Given the description of an element on the screen output the (x, y) to click on. 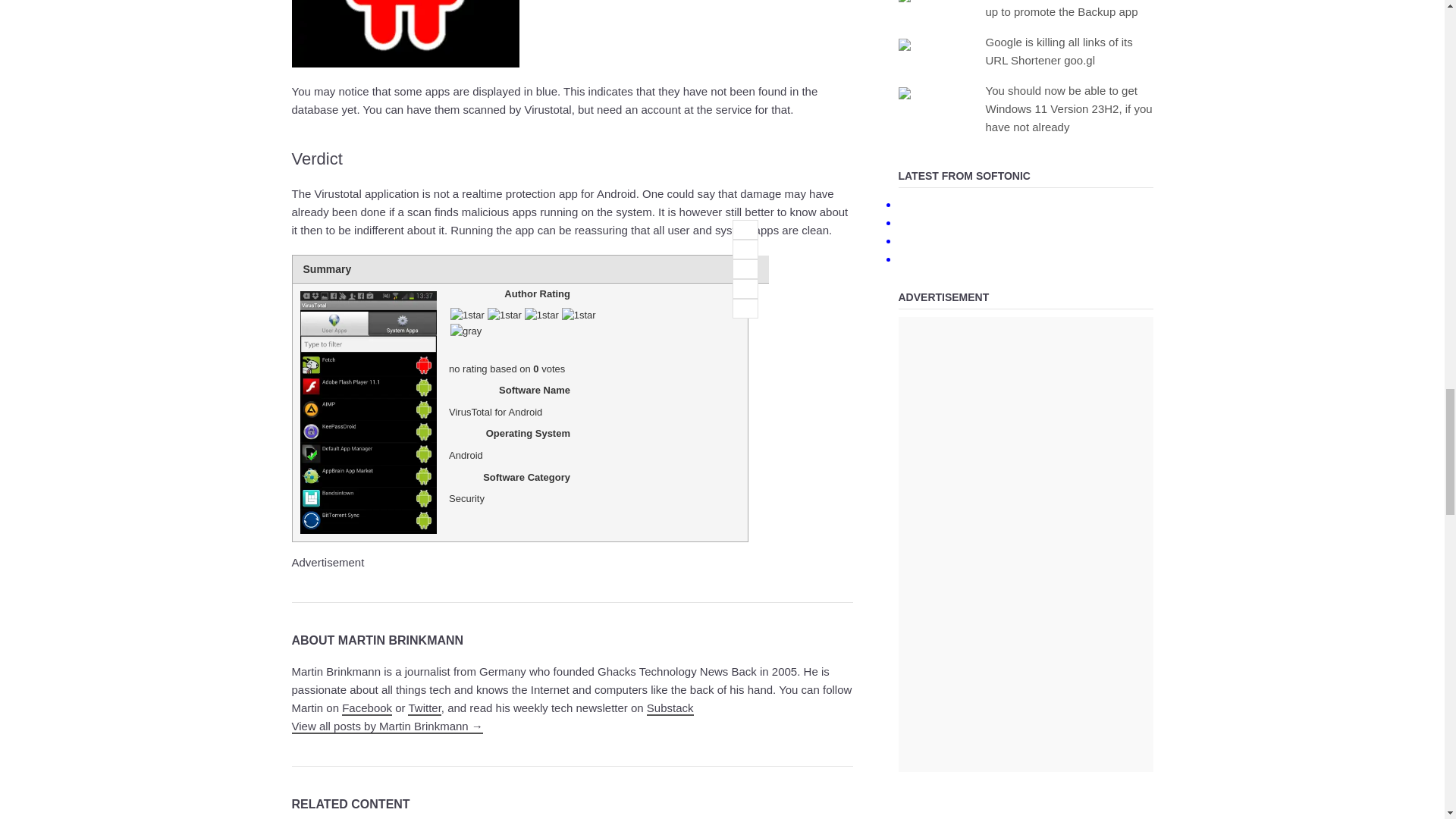
3 (745, 269)
5 (745, 308)
1 (745, 229)
4 (745, 288)
2 (745, 249)
